Given the description of an element on the screen output the (x, y) to click on. 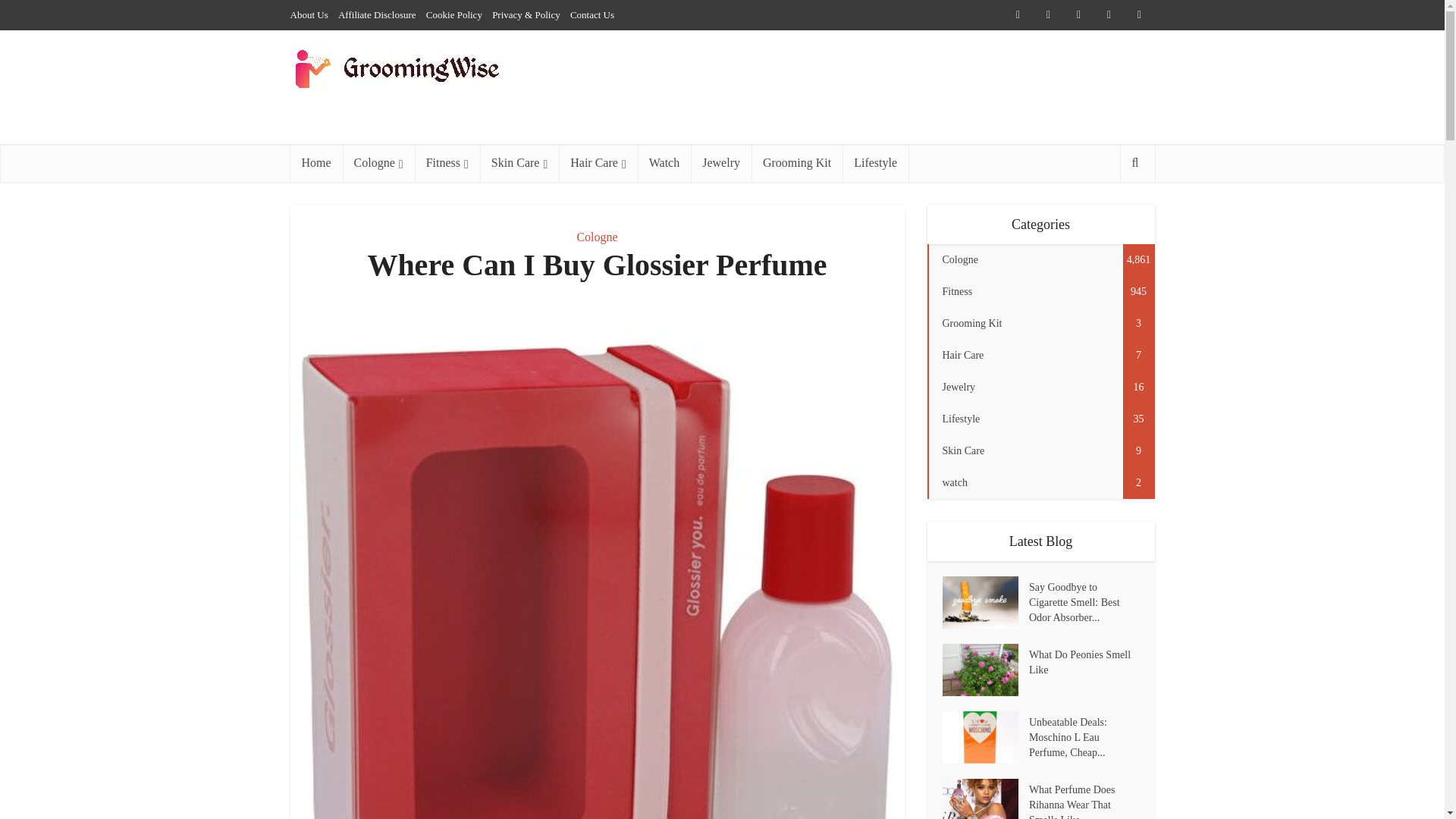
Skin Care (519, 162)
Cookie Policy (453, 14)
About Us (308, 14)
Contact Us (592, 14)
Fitness (447, 162)
Cologne (378, 162)
Affiliate Disclosure (376, 14)
Home (315, 162)
